Given the description of an element on the screen output the (x, y) to click on. 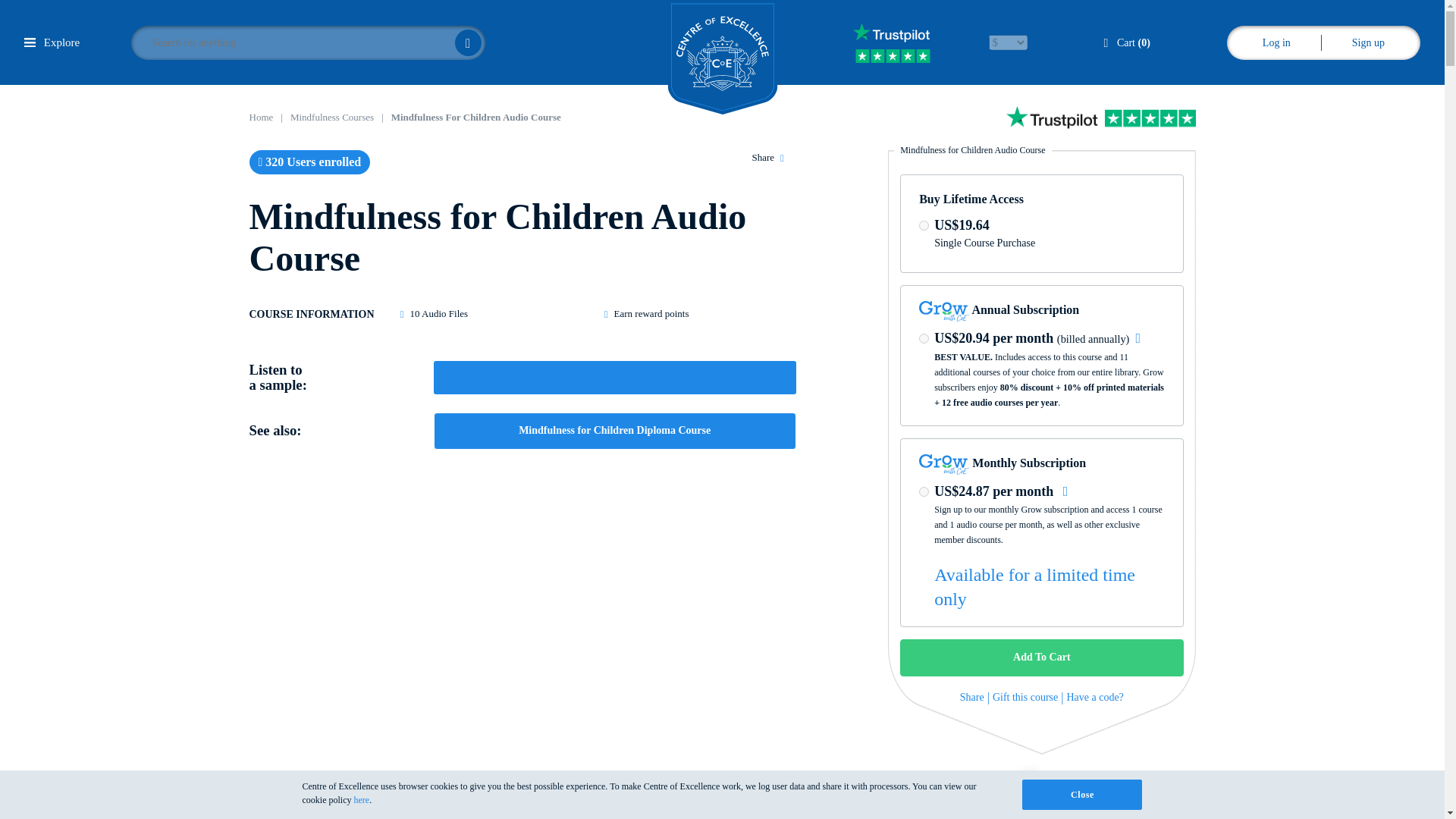
Mindfulness for Children Audio Course (475, 117)
Sign up (1367, 42)
Log in (1275, 42)
Explore (52, 41)
Mindfulness Courses (331, 117)
Home (260, 117)
Centre of Excellence (721, 57)
